Given the description of an element on the screen output the (x, y) to click on. 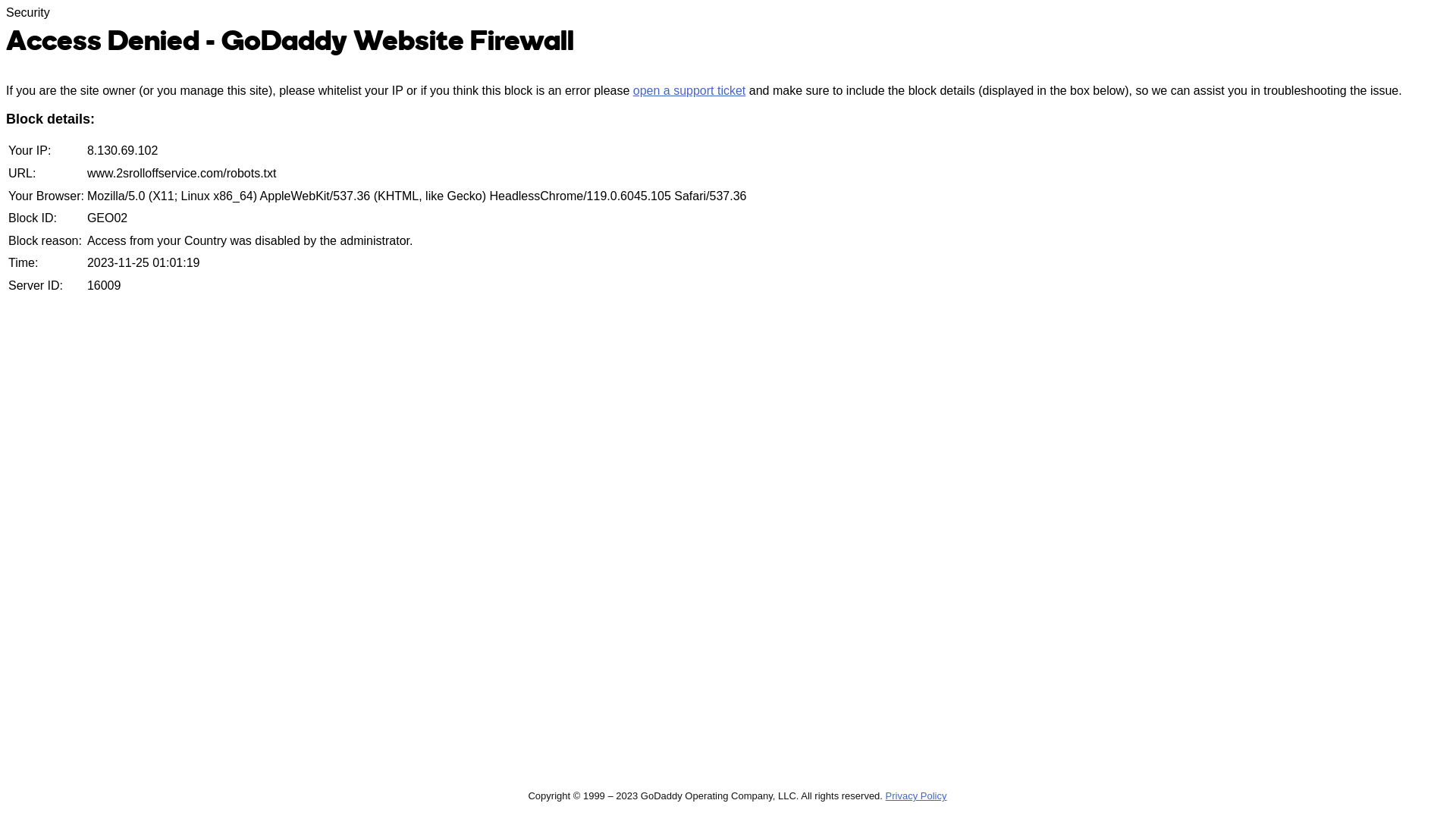
Privacy Policy Element type: text (916, 795)
open a support ticket Element type: text (689, 90)
